Given the description of an element on the screen output the (x, y) to click on. 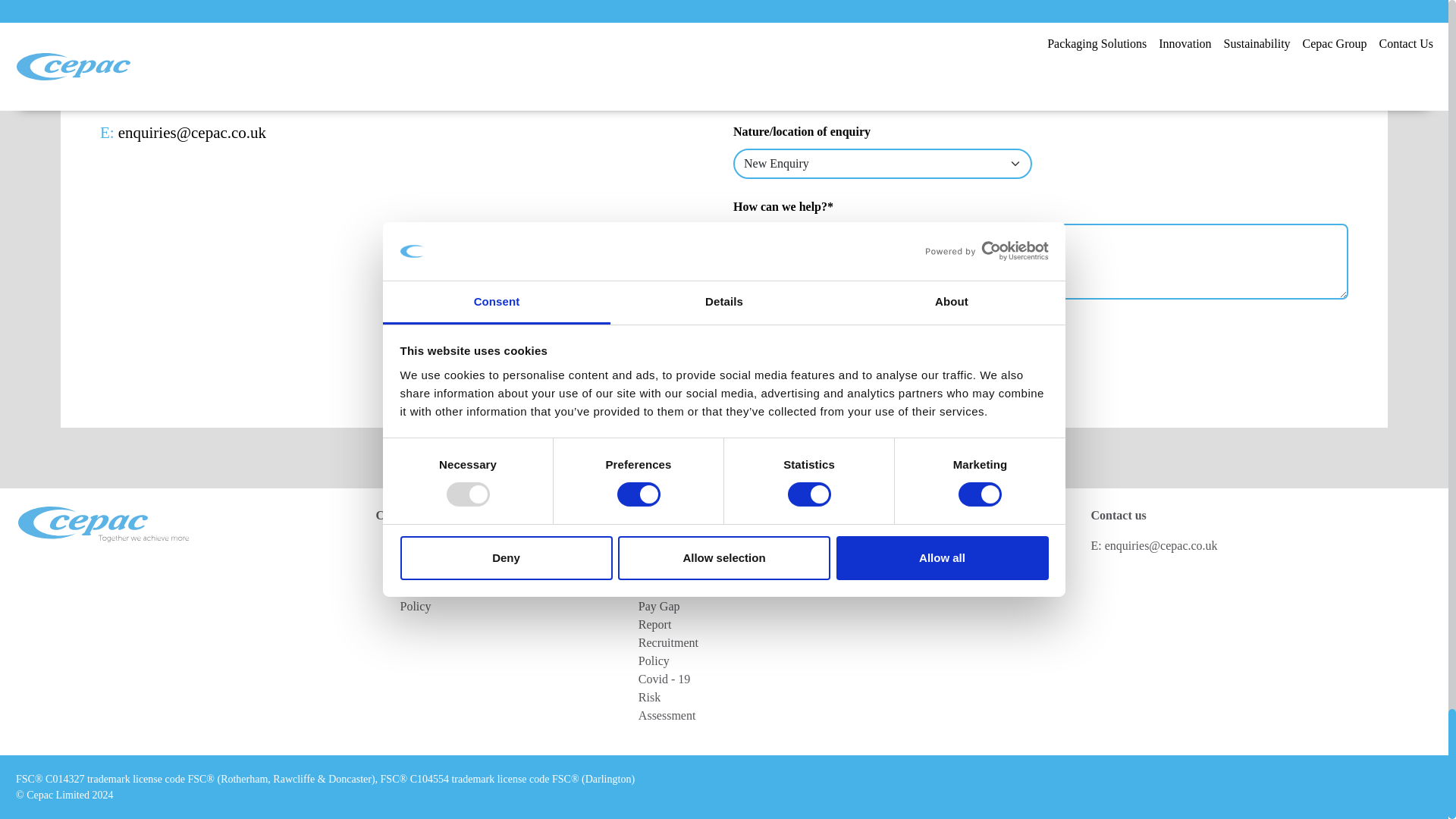
true (738, 326)
